Given the description of an element on the screen output the (x, y) to click on. 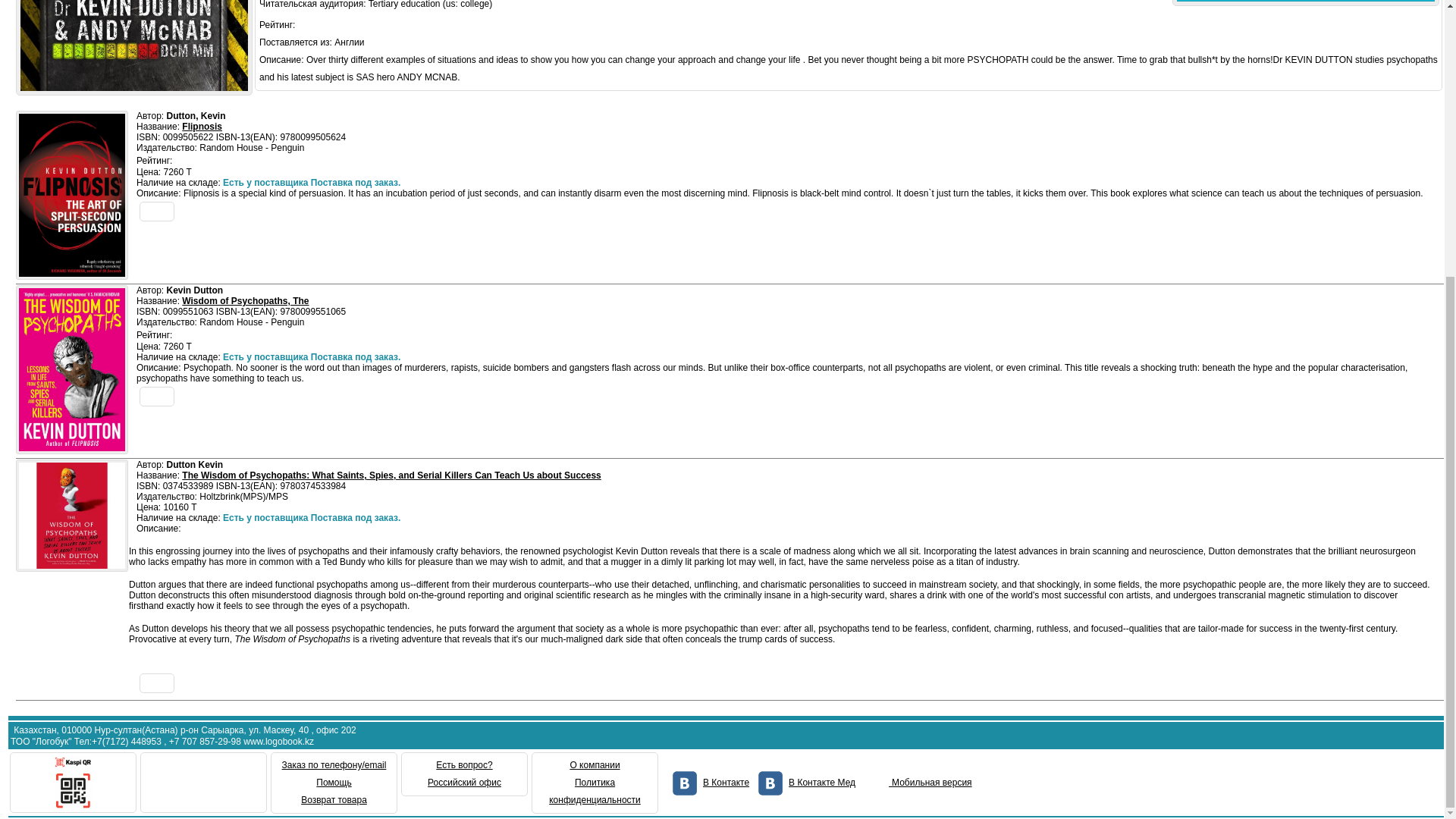
Flipnosis (202, 126)
Wisdom of Psychopaths, The (245, 300)
